Given the description of an element on the screen output the (x, y) to click on. 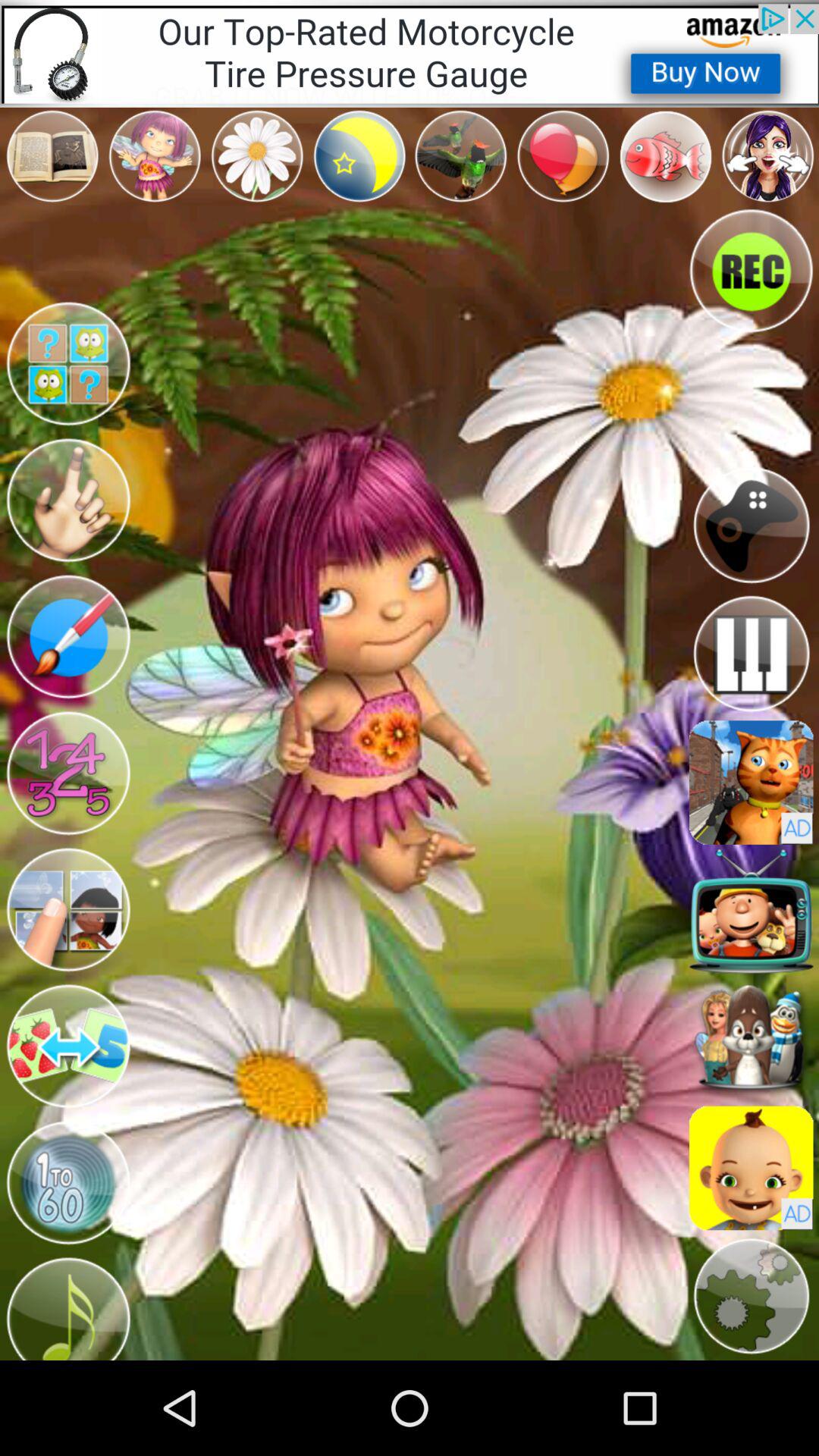
view characters (751, 1039)
